Given the description of an element on the screen output the (x, y) to click on. 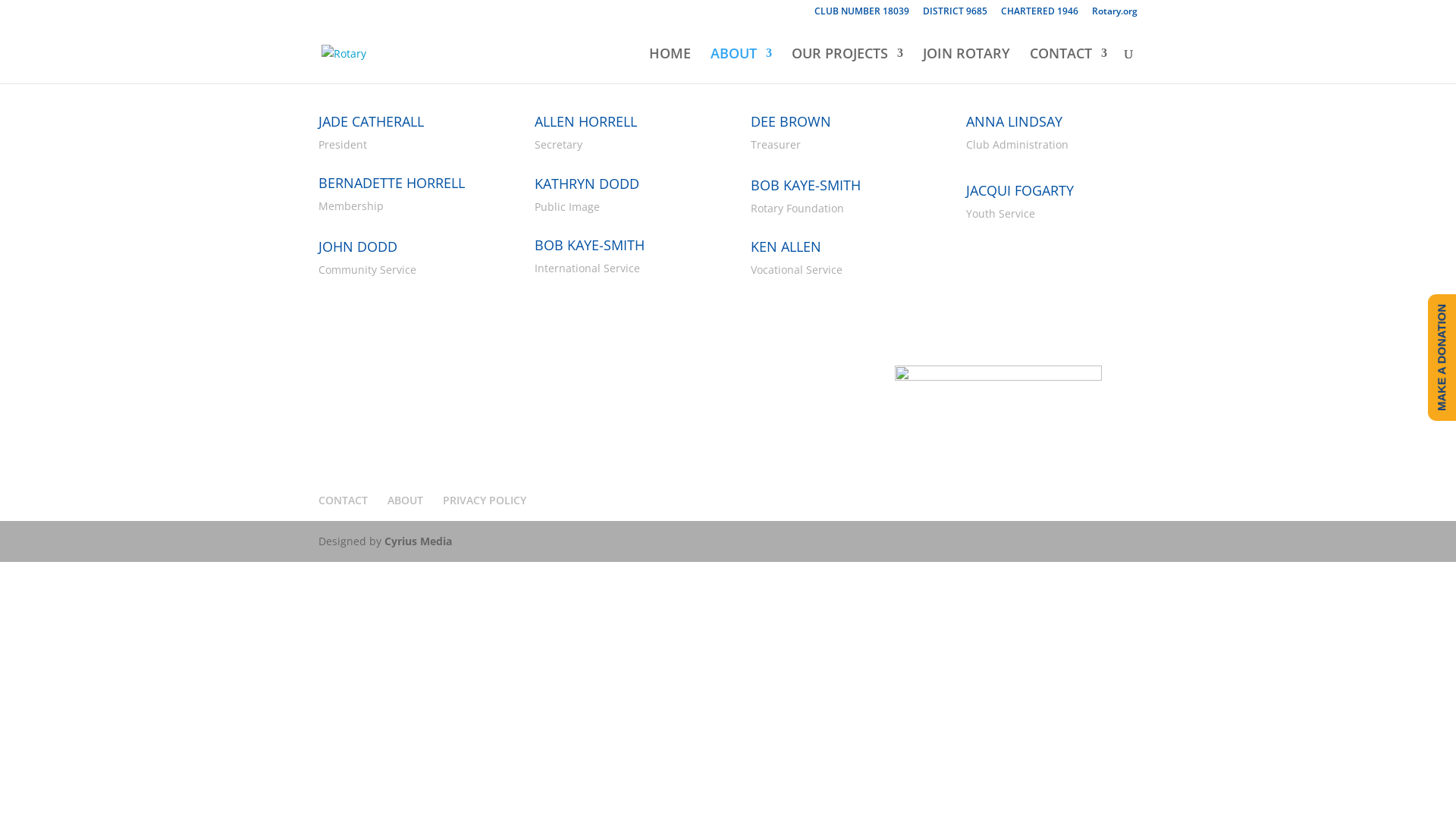
DISTRICT 9685 Element type: text (954, 14)
ABOUT Element type: text (405, 499)
Rotary.org Element type: text (1114, 14)
ABOUT Element type: text (740, 65)
CLUB NUMBER 18039 Element type: text (861, 14)
PRIVACY POLICY Element type: text (484, 499)
Cyrius Media Element type: text (417, 540)
HOME Element type: text (669, 65)
OUR PROJECTS Element type: text (847, 65)
JOIN ROTARY Element type: text (966, 65)
CONTACT Element type: text (1068, 65)
CHARTERED 1946 Element type: text (1039, 14)
CONTACT Element type: text (342, 499)
